Given the description of an element on the screen output the (x, y) to click on. 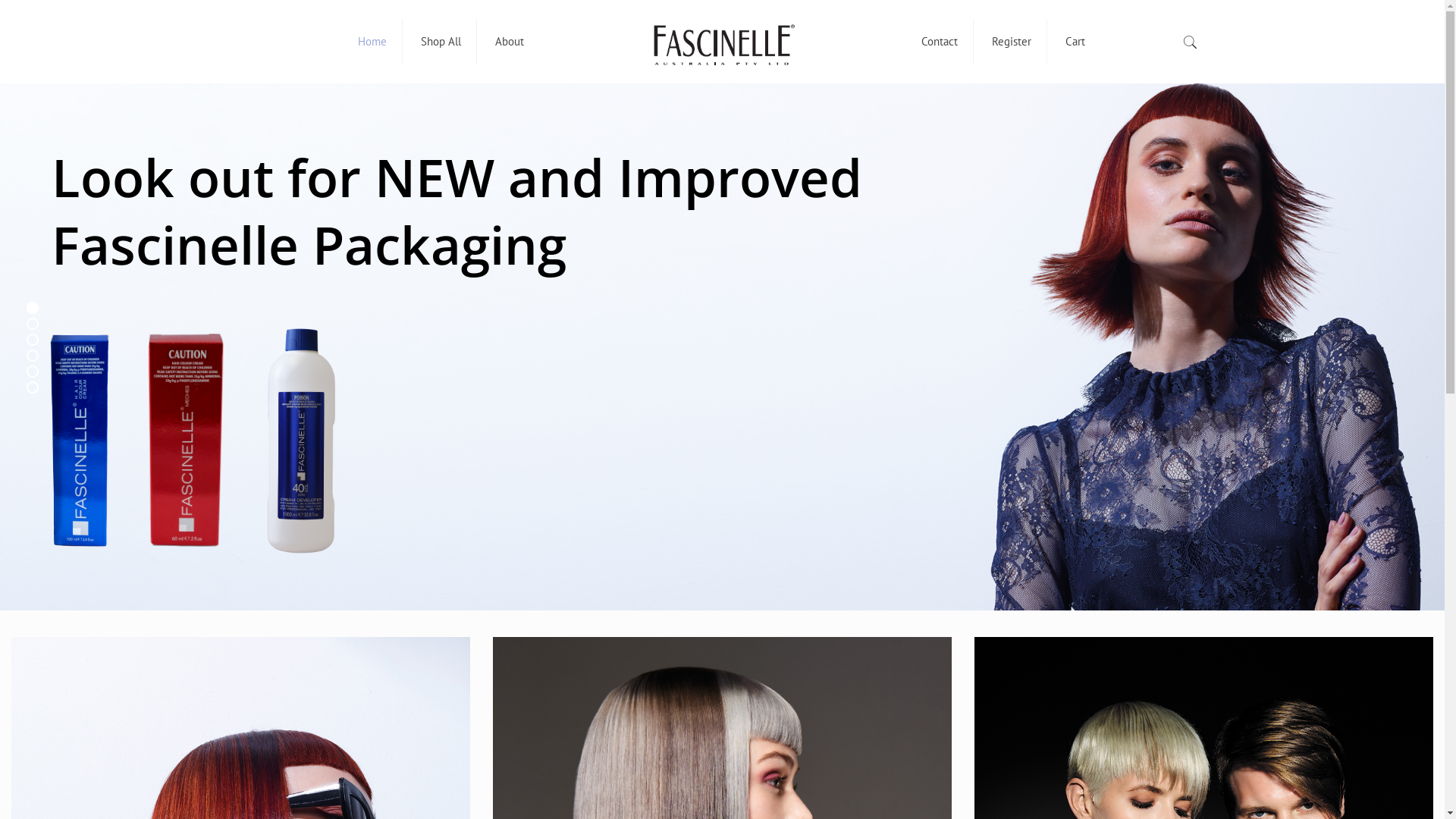
Fascinelle Element type: hover (722, 41)
Contact Element type: text (939, 41)
Shop All Element type: text (440, 41)
Home Element type: text (372, 41)
About Element type: text (509, 41)
Register Element type: text (1011, 41)
Cart Element type: text (1075, 41)
